Given the description of an element on the screen output the (x, y) to click on. 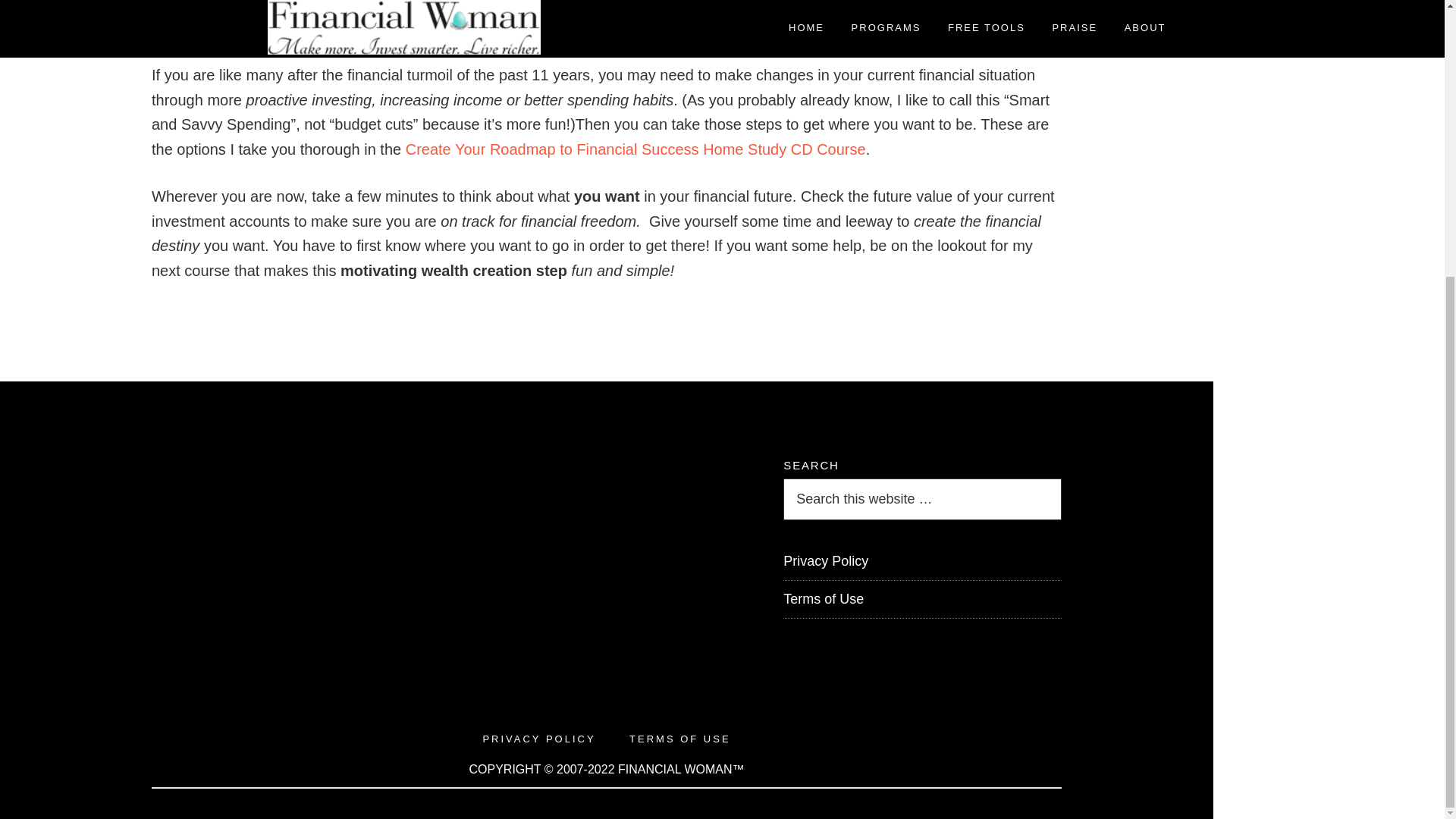
PRIVACY POLICY (538, 738)
Privacy Policy (825, 560)
Terms of Use (823, 598)
TERMS OF USE (679, 738)
